Given the description of an element on the screen output the (x, y) to click on. 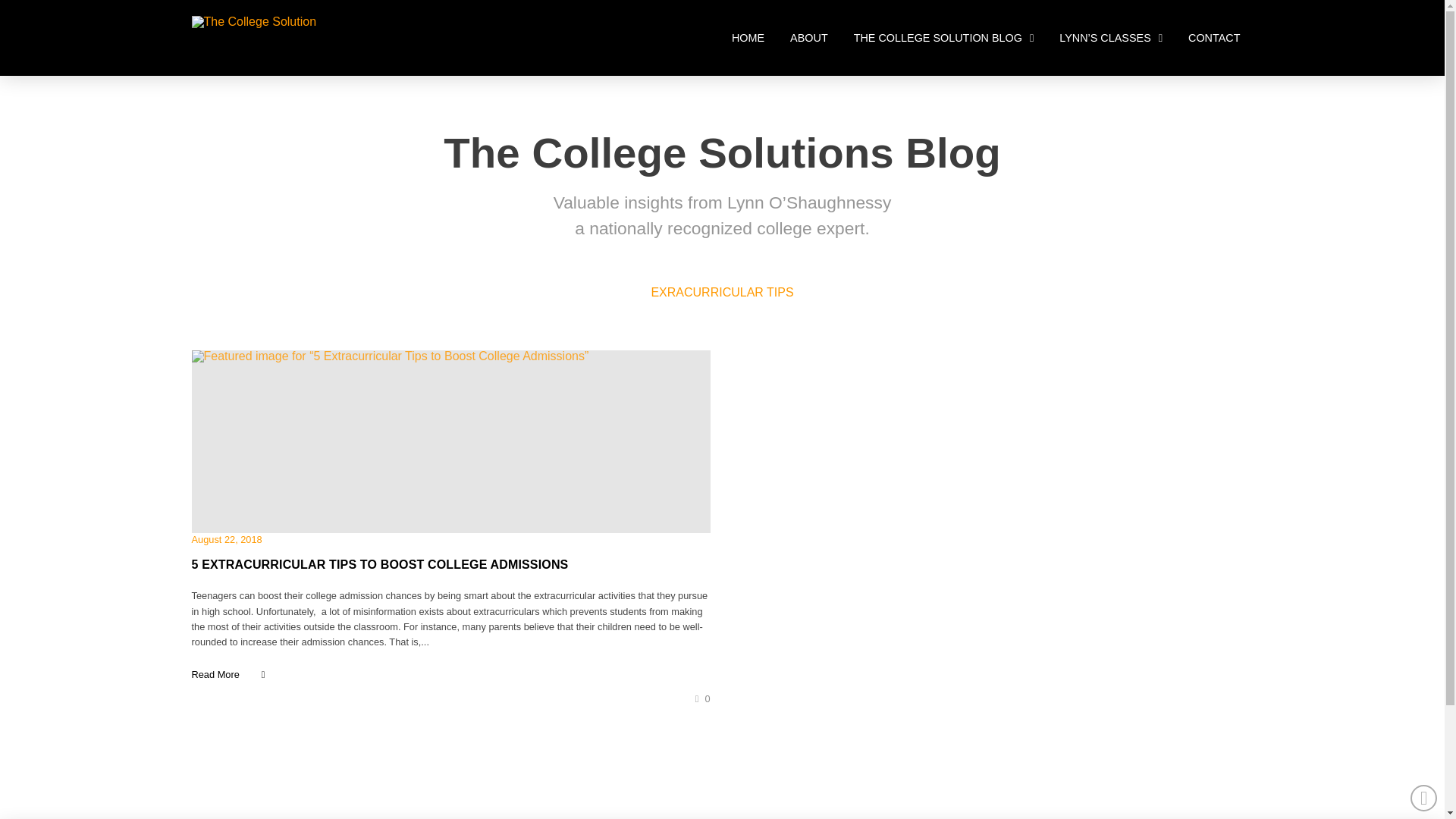
ABOUT (809, 37)
CONTACT (1213, 37)
HOME (748, 37)
THE COLLEGE SOLUTION BLOG (943, 37)
Back to Top (1423, 797)
